Given the description of an element on the screen output the (x, y) to click on. 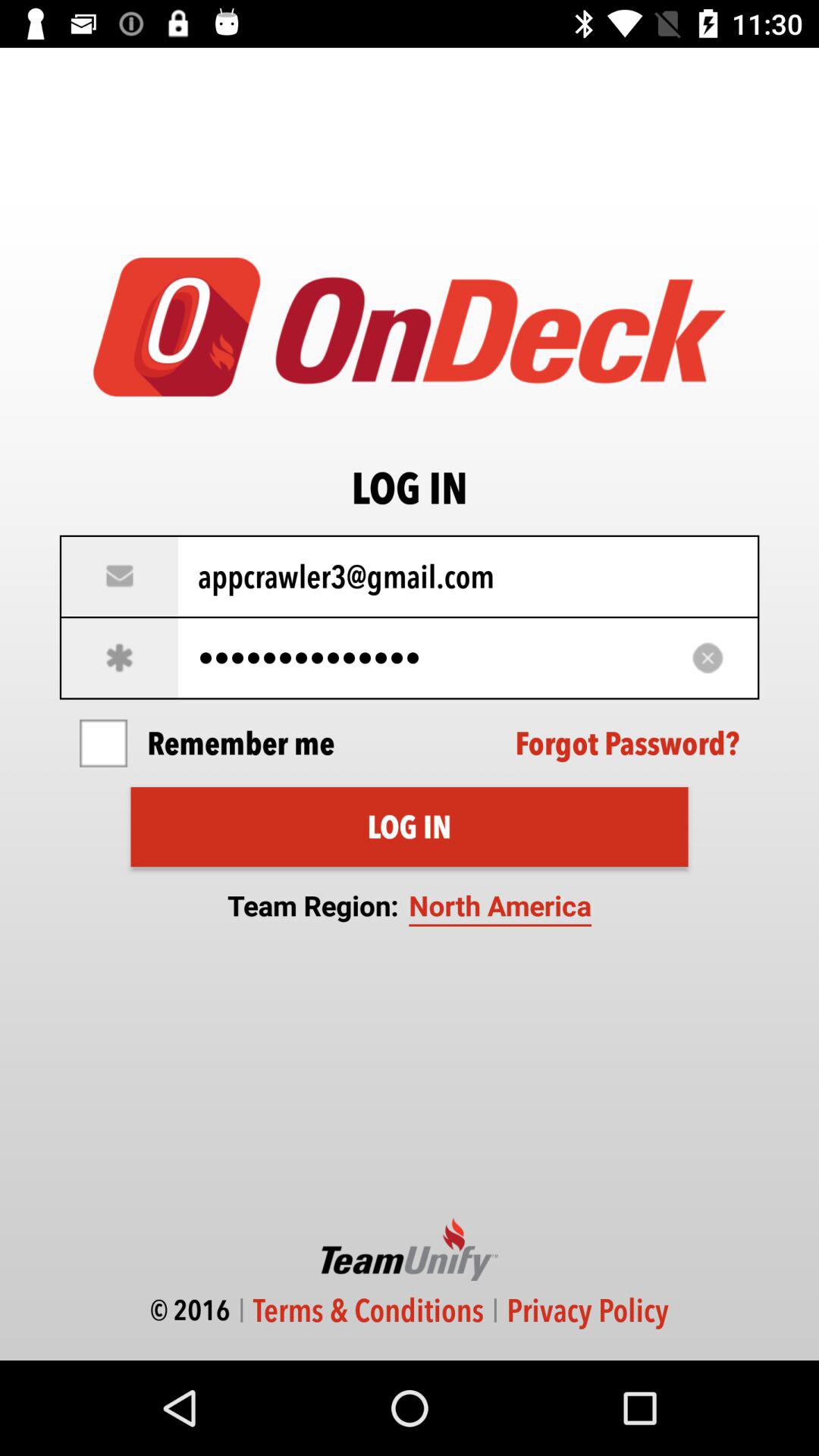
open icon at the bottom right corner (587, 1310)
